Given the description of an element on the screen output the (x, y) to click on. 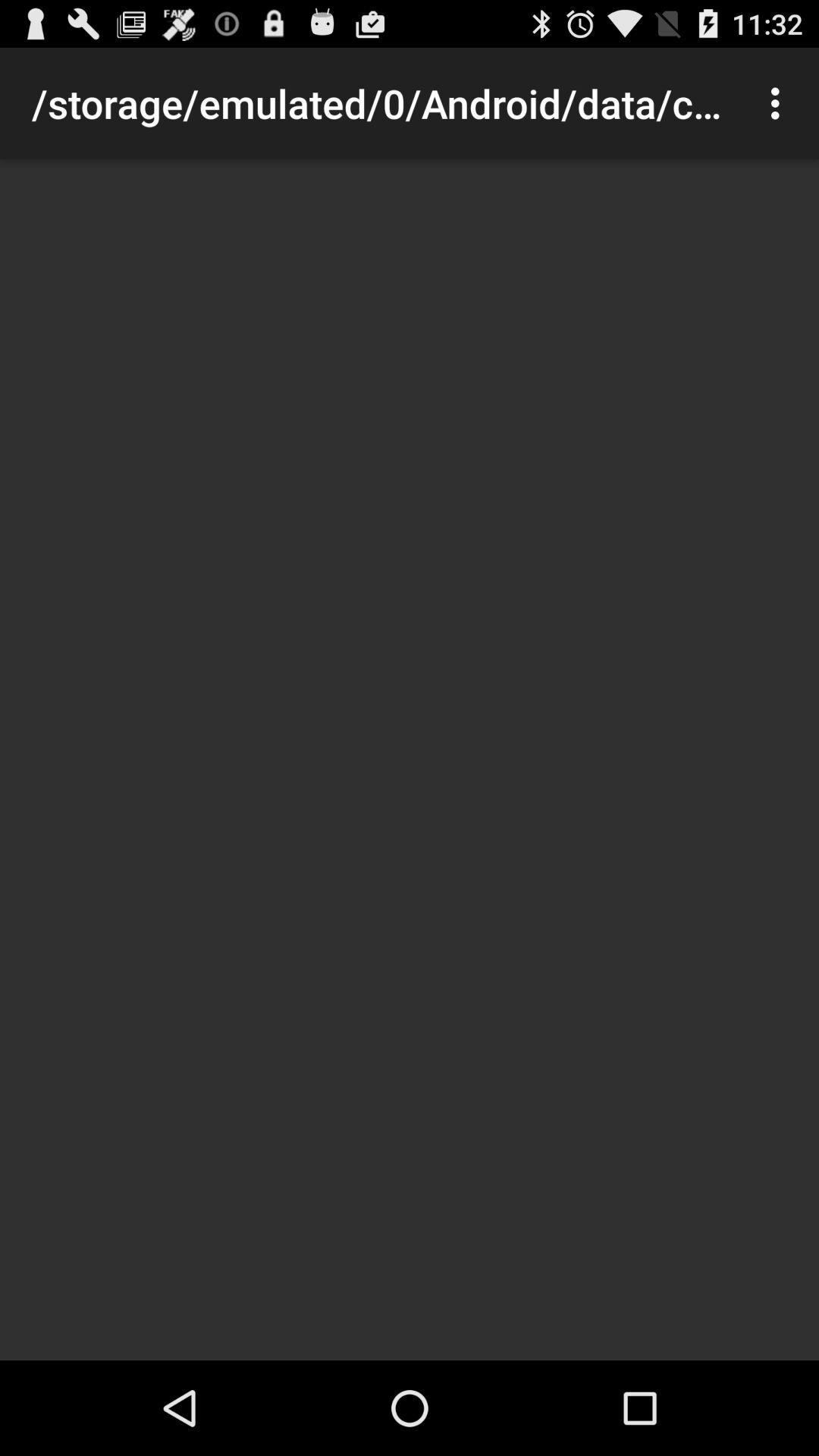
tap item to the right of the storage emulated 0 (779, 103)
